Given the description of an element on the screen output the (x, y) to click on. 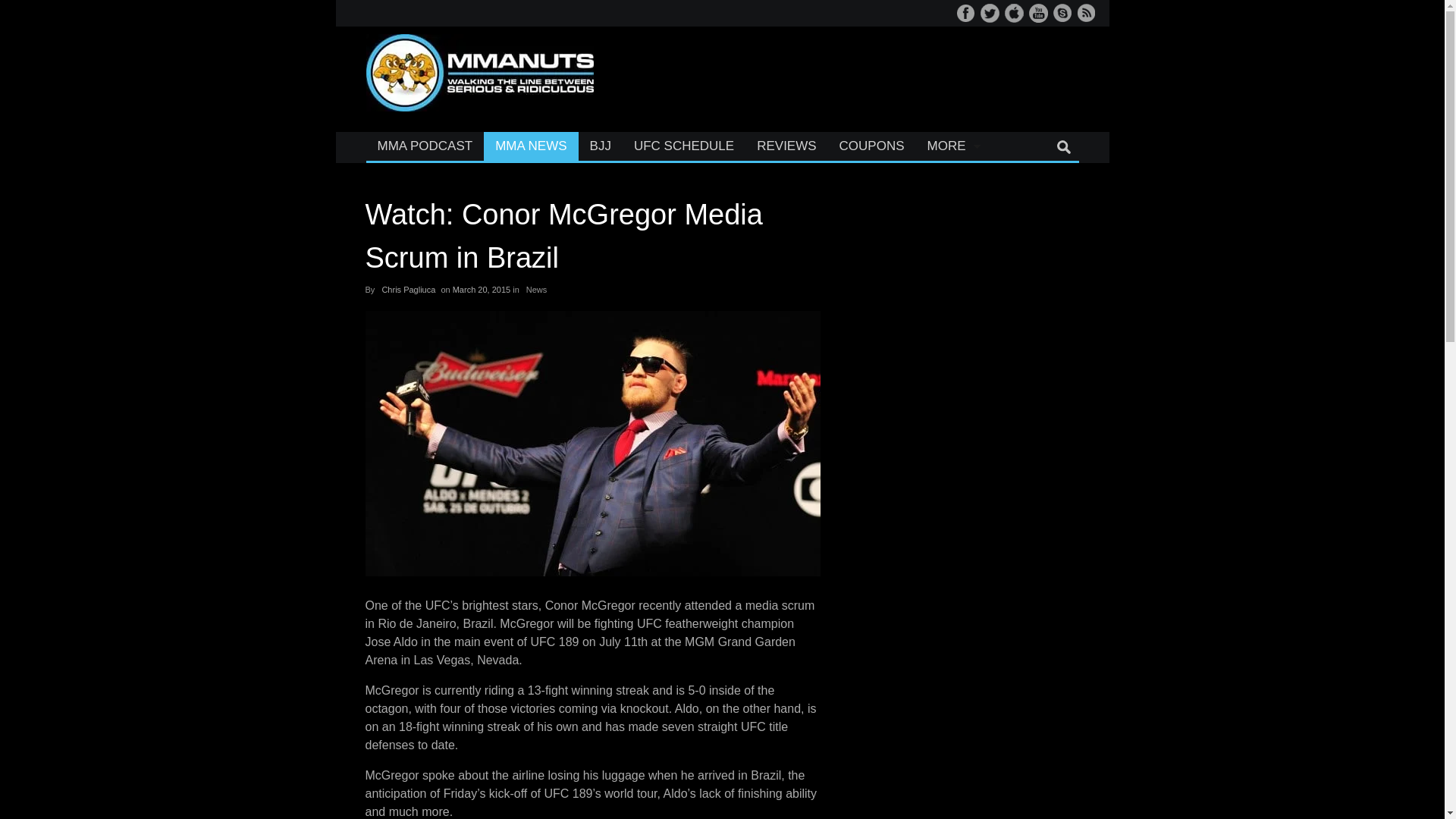
MMA NEWS (530, 145)
By Chris Pagliuca (408, 288)
MMA PODCAST (424, 145)
UFC SCHEDULE (684, 145)
REVIEWS (786, 145)
News (536, 288)
